Given the description of an element on the screen output the (x, y) to click on. 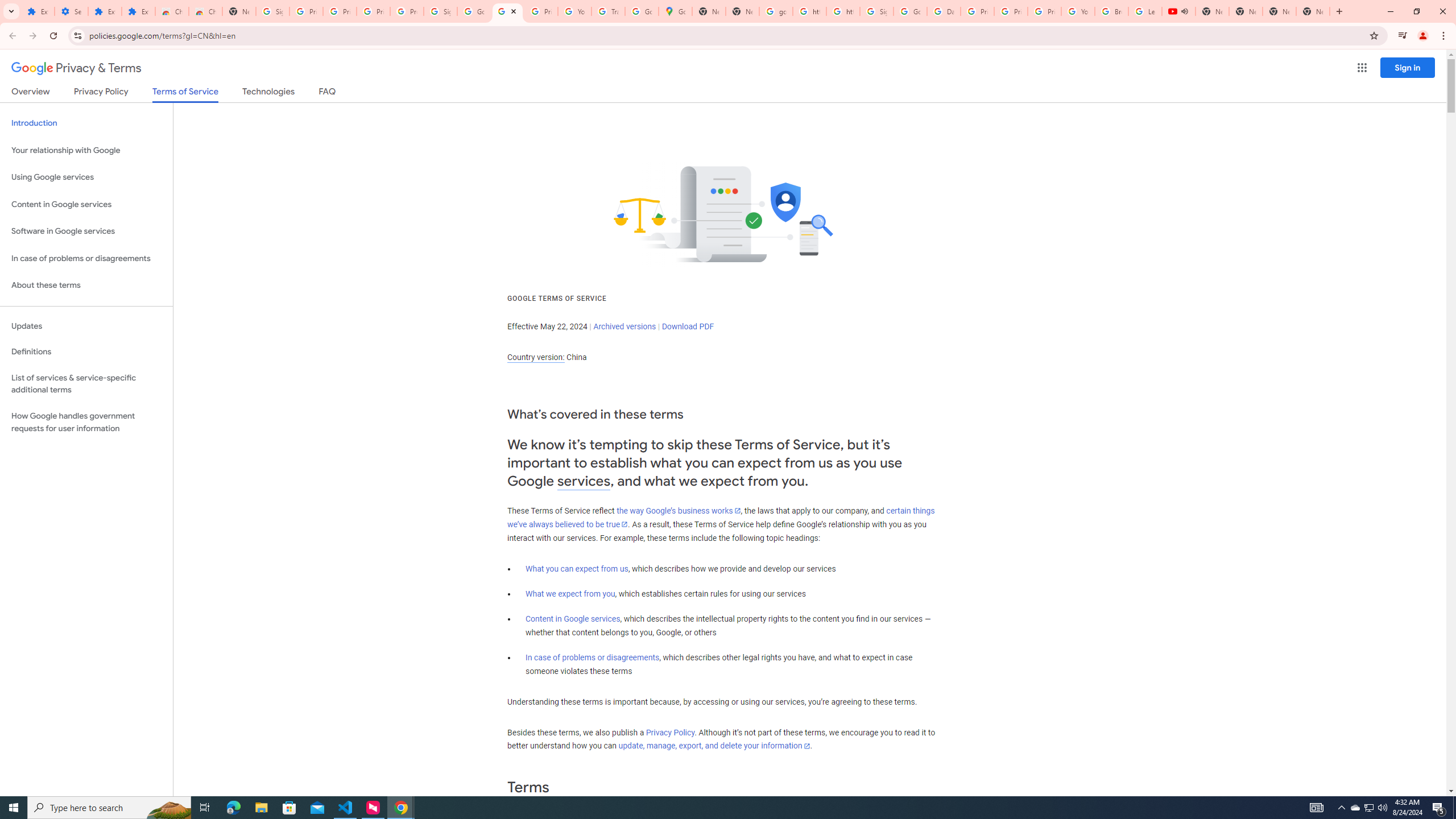
YouTube (1077, 11)
Privacy Help Center - Policies Help (1010, 11)
Sign in - Google Accounts (441, 11)
Country version: (535, 357)
